Given the description of an element on the screen output the (x, y) to click on. 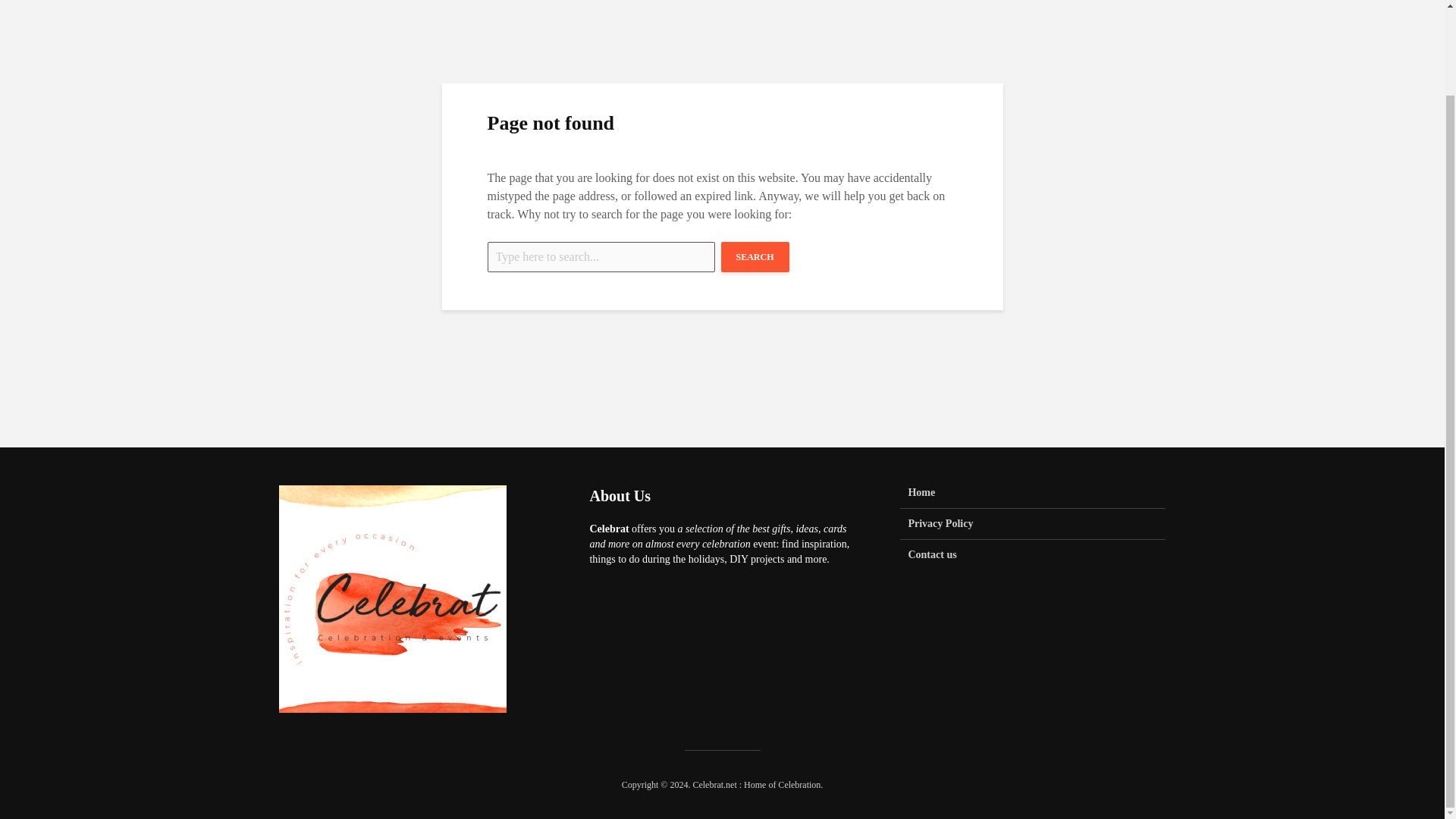
Privacy Policy (1032, 523)
Contact us (1032, 554)
Home (1032, 496)
SEARCH (754, 256)
